Given the description of an element on the screen output the (x, y) to click on. 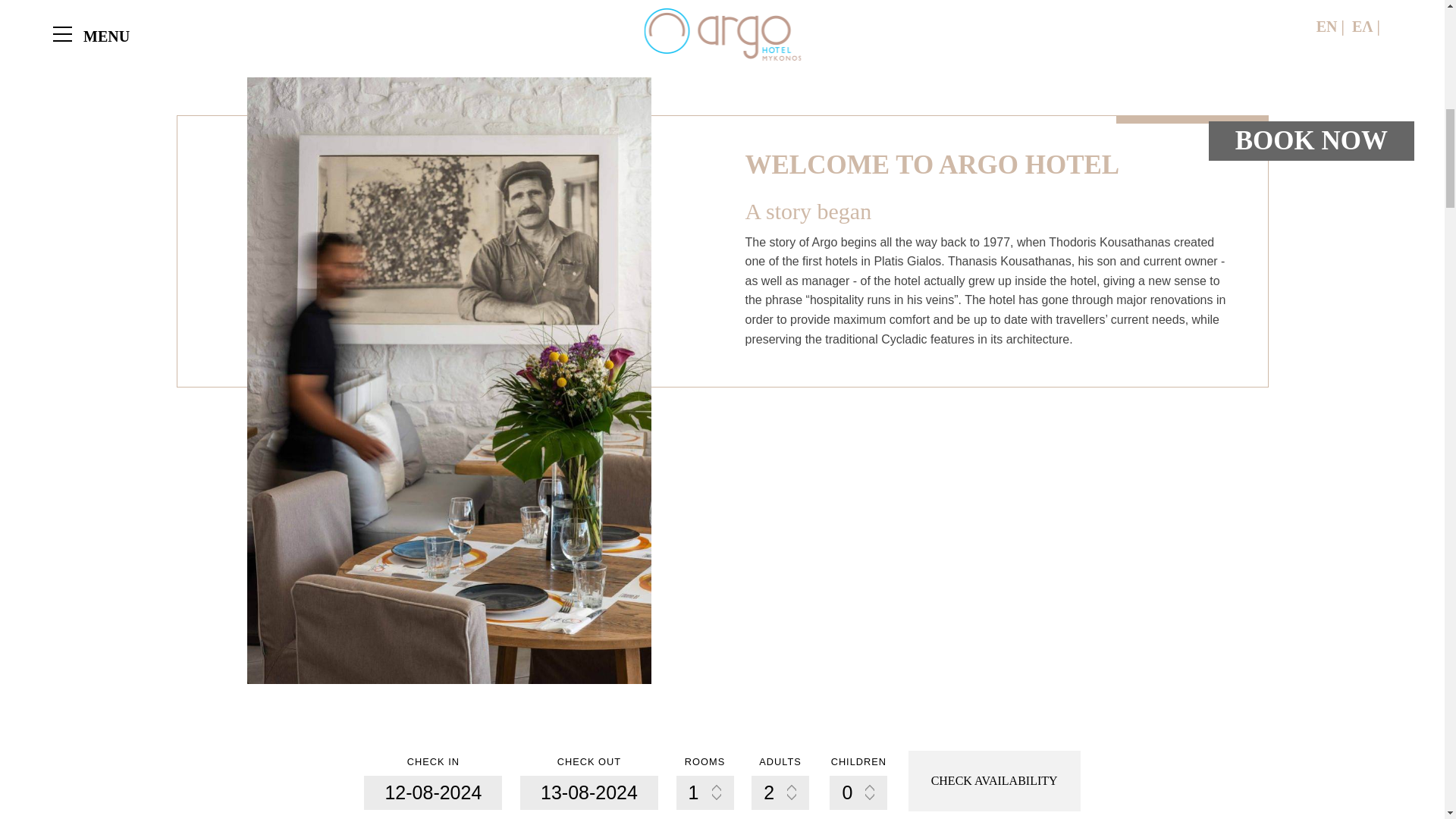
Argo Hotel (1096, 770)
Argo Hotel (1210, 789)
Argo Hotel (753, 789)
Argo Hotel (867, 789)
Argo Hotel (982, 789)
